Given the description of an element on the screen output the (x, y) to click on. 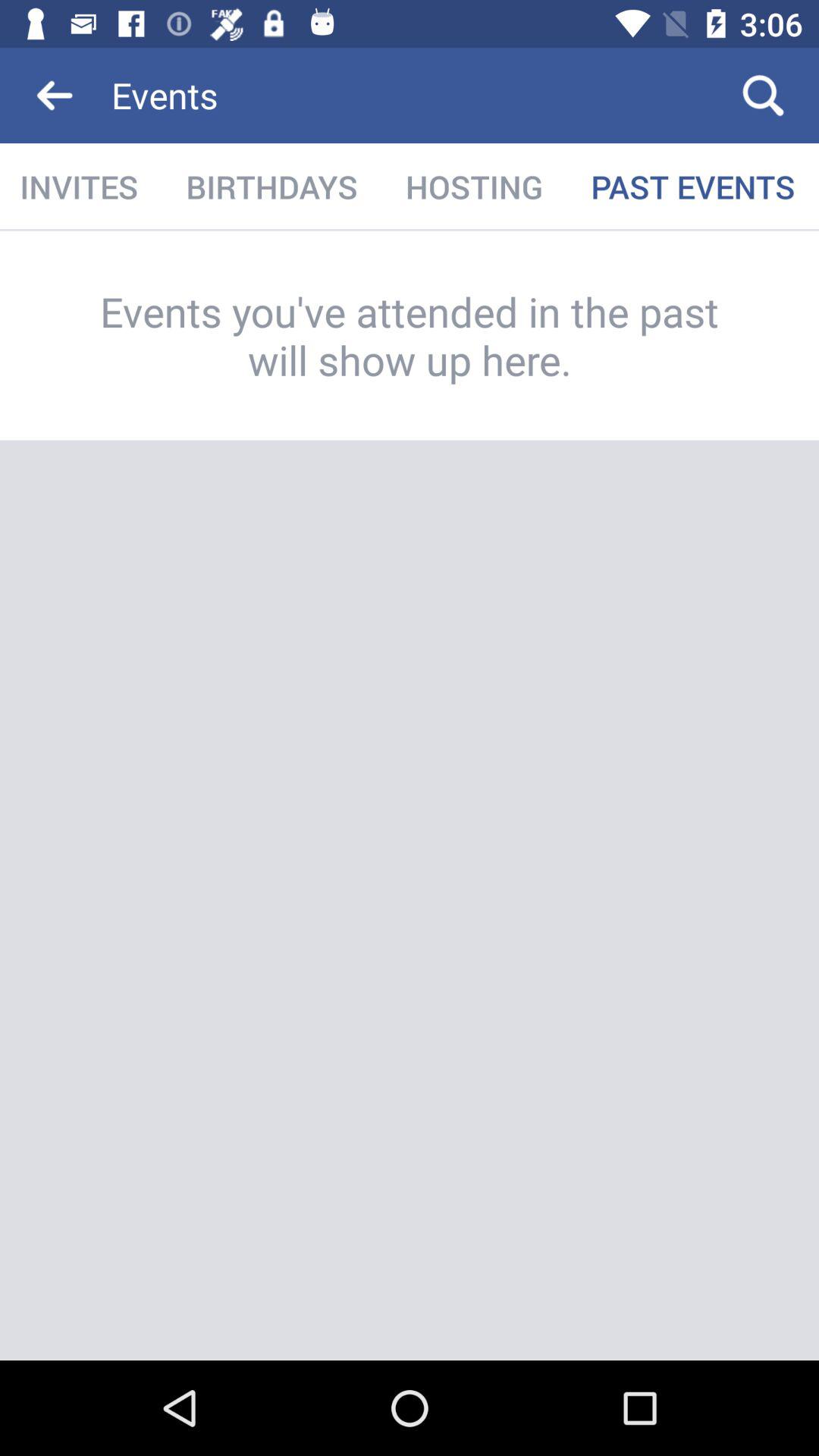
press item above events you ve item (474, 186)
